Given the description of an element on the screen output the (x, y) to click on. 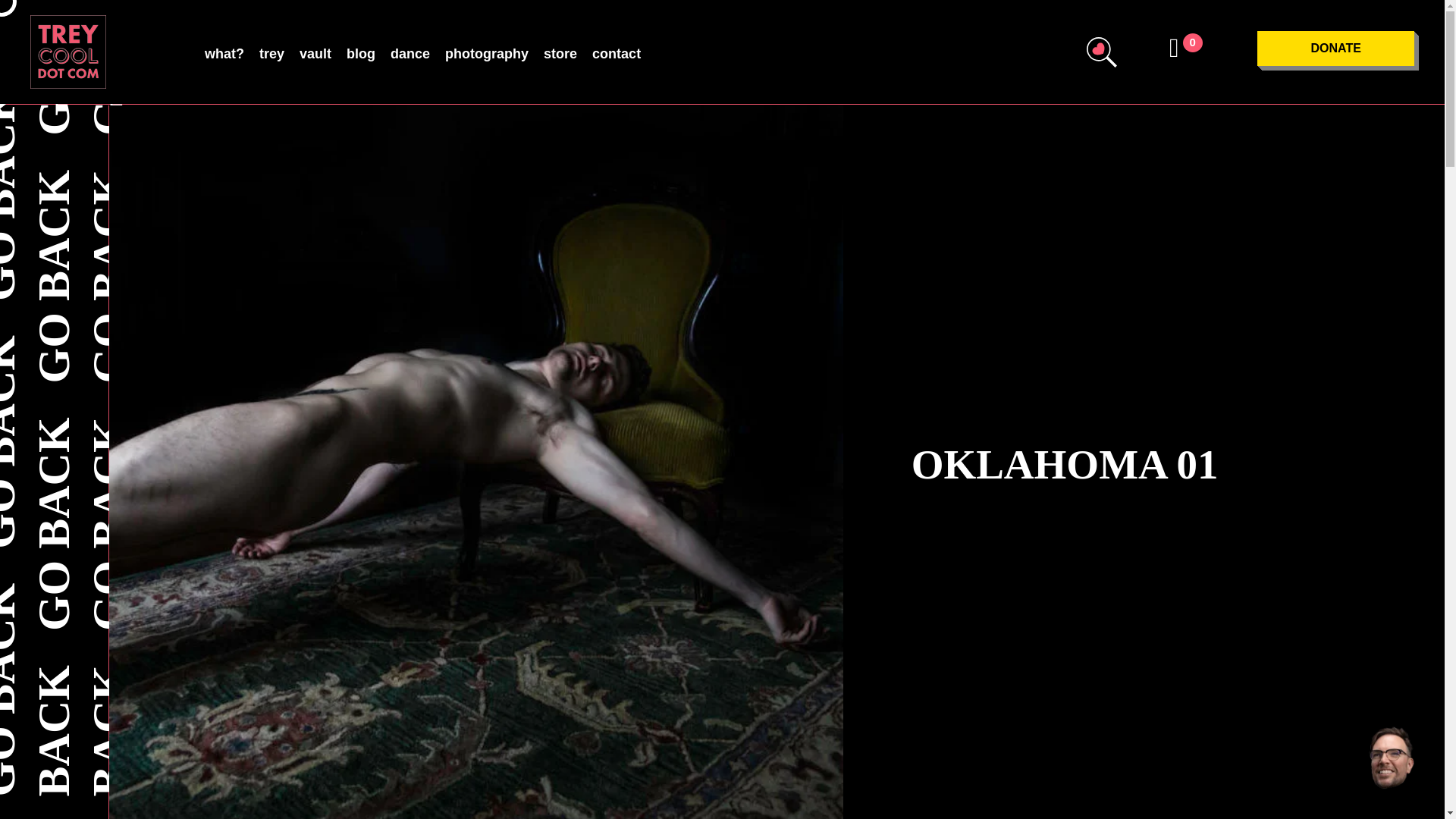
dance (409, 54)
DONATE (1335, 48)
photography (486, 54)
trey (271, 54)
blog (360, 54)
vault (315, 54)
TREYcool (68, 51)
what? (224, 54)
contact (616, 54)
store (559, 54)
